Given the description of an element on the screen output the (x, y) to click on. 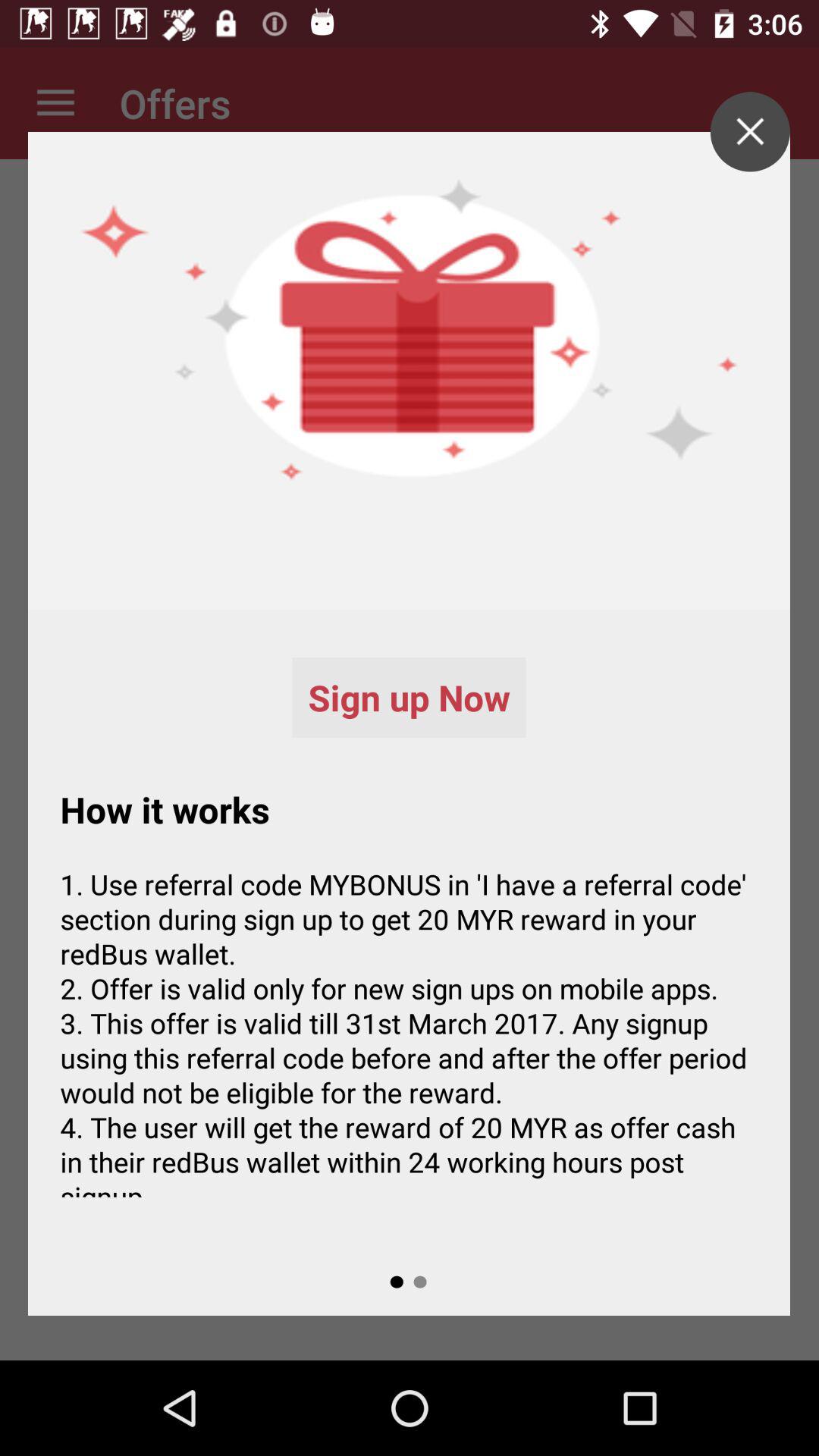
choose icon at the top right corner (749, 131)
